Given the description of an element on the screen output the (x, y) to click on. 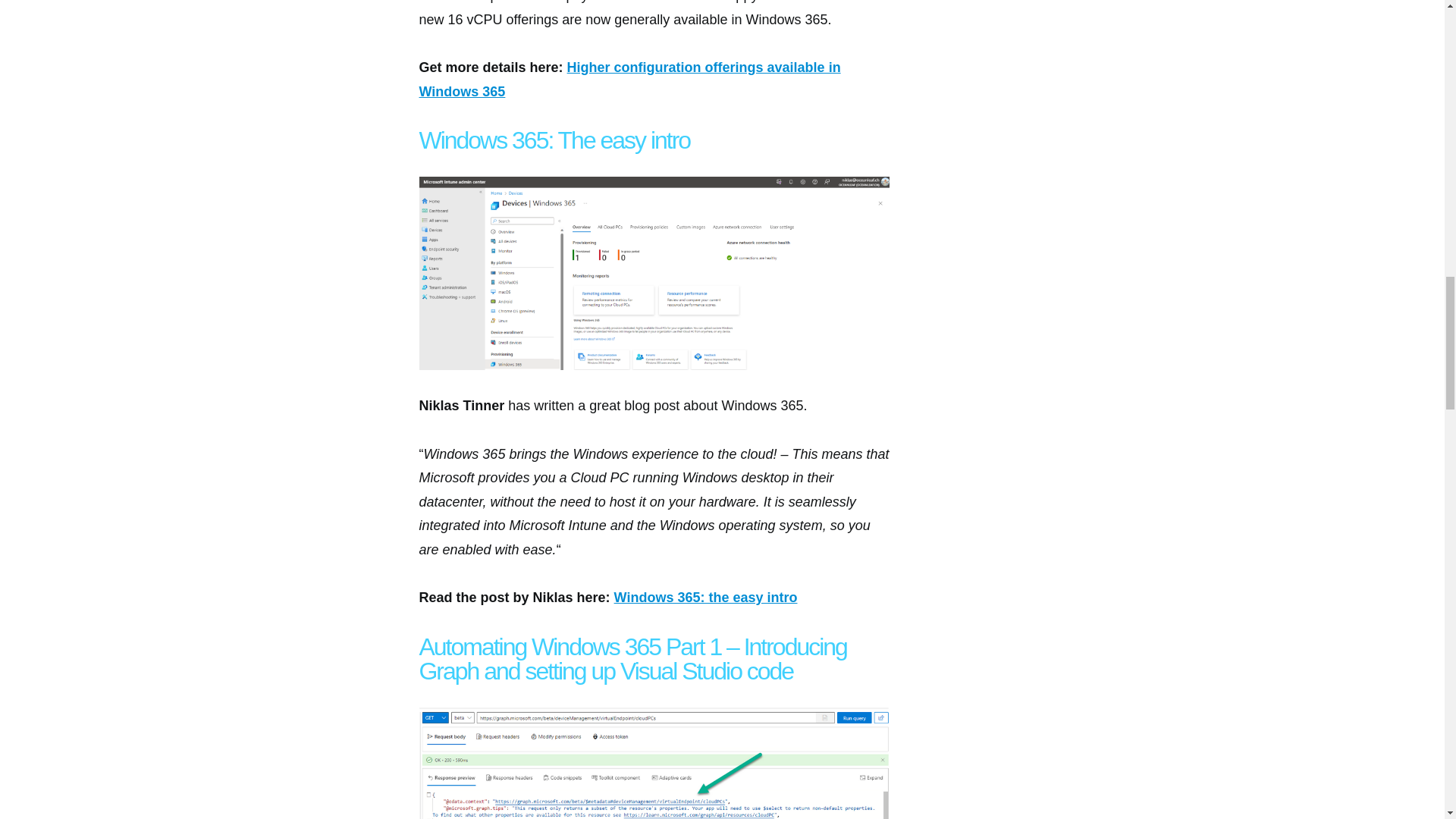
Higher configuration offerings available in Windows 365 (629, 79)
Windows 365: the easy intro (705, 597)
